Given the description of an element on the screen output the (x, y) to click on. 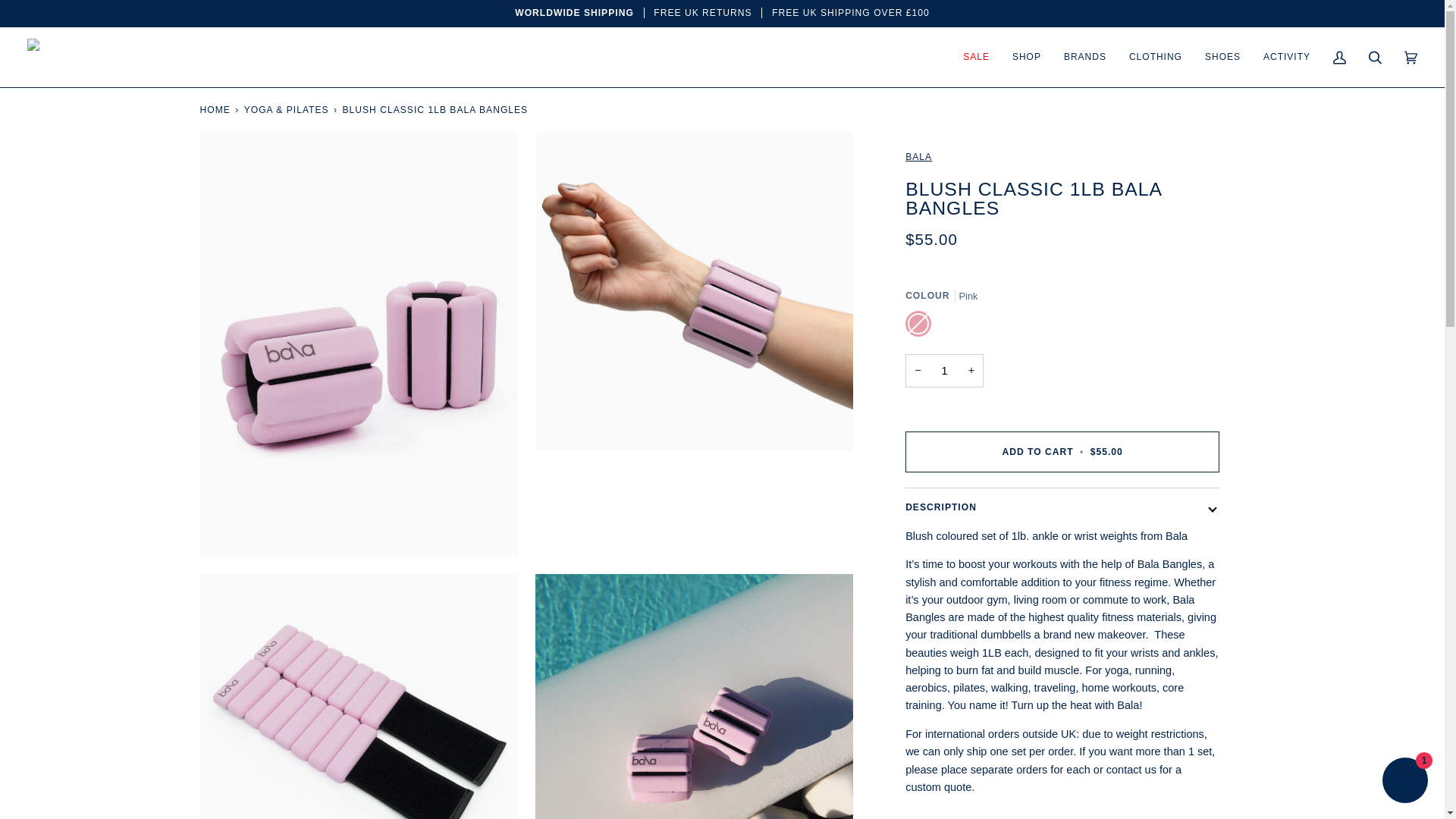
Back to the frontpage (215, 109)
1 (944, 370)
Shopify online store chat (1404, 781)
